Given the description of an element on the screen output the (x, y) to click on. 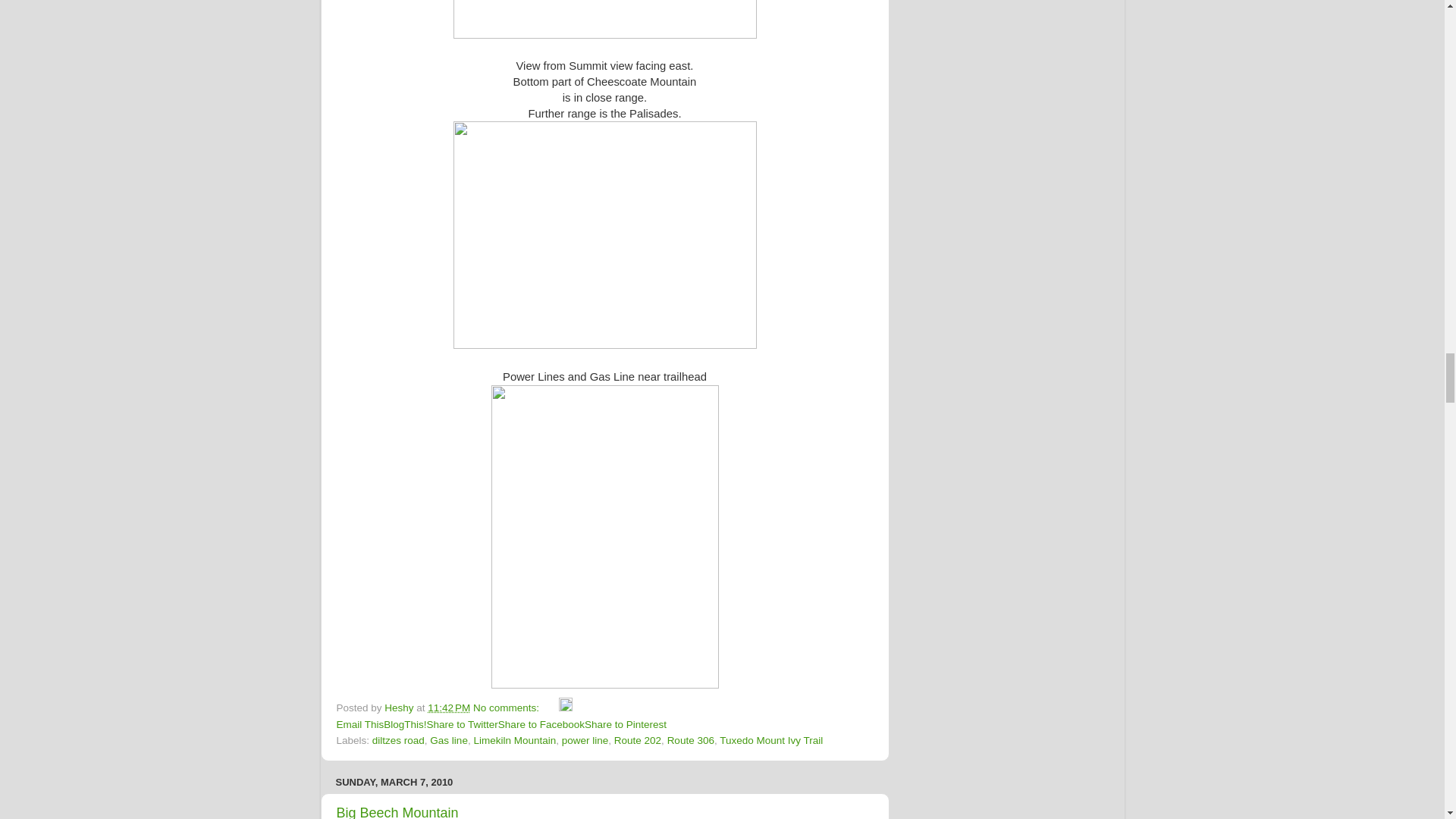
Email This (360, 724)
Edit Post (565, 707)
Heshy (400, 707)
Email Post (550, 707)
permanent link (449, 707)
BlogThis! (405, 724)
author profile (400, 707)
No comments: (507, 707)
